Given the description of an element on the screen output the (x, y) to click on. 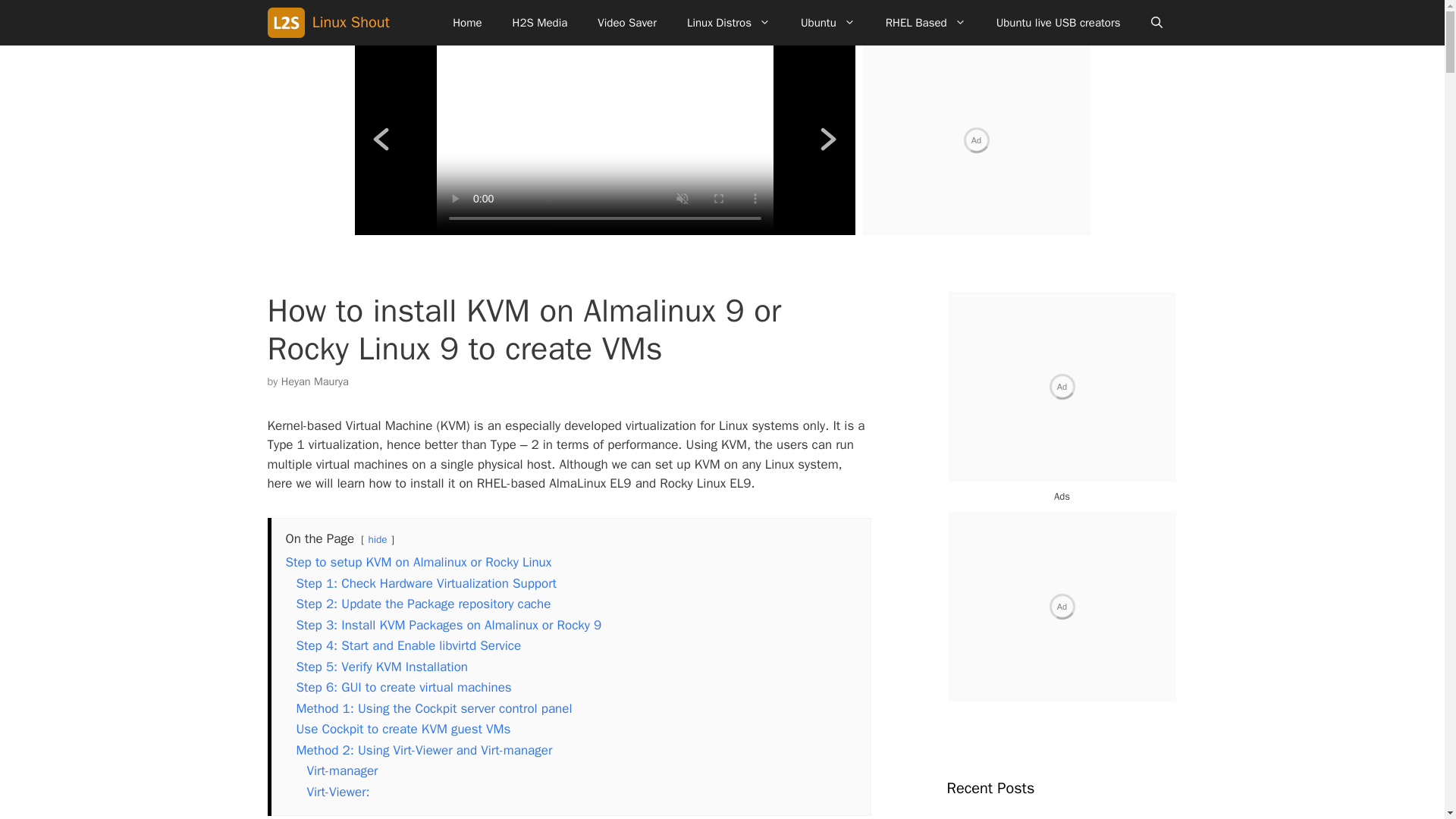
Next (828, 140)
Linux Distros (728, 22)
Video Saver (626, 22)
Previous (381, 140)
Linux Distros (728, 22)
H2S Media (540, 22)
Linux Shout (351, 22)
Linux Shout (288, 22)
Home (467, 22)
Ubuntu Linux (828, 22)
